Given the description of an element on the screen output the (x, y) to click on. 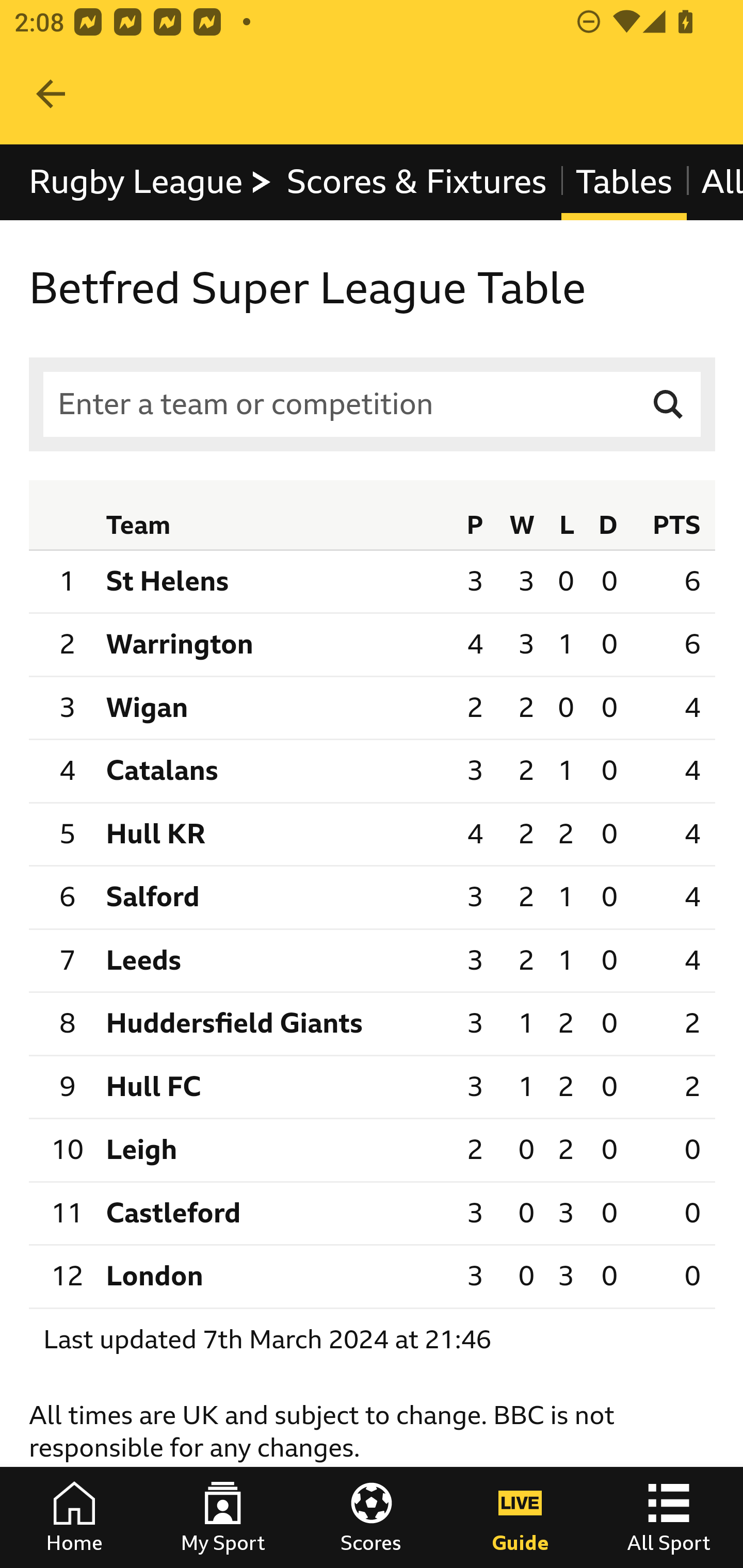
Navigate up (50, 93)
Rugby League  (150, 181)
Scores & Fixtures (416, 181)
Tables (623, 181)
Search (669, 404)
St Helens (274, 580)
Warrington Wolves (274, 644)
Wigan Warriors (274, 707)
Catalans Dragons (274, 771)
Hull Kingston Rovers (274, 833)
Salford Red Devils (274, 898)
Leeds Rhinos (274, 960)
Huddersfield Giants (274, 1023)
Hull FC (274, 1087)
Leigh Leopards (274, 1149)
Castleford Tigers (274, 1212)
London Broncos (274, 1276)
Home (74, 1517)
My Sport (222, 1517)
Scores (371, 1517)
All Sport (668, 1517)
